Given the description of an element on the screen output the (x, y) to click on. 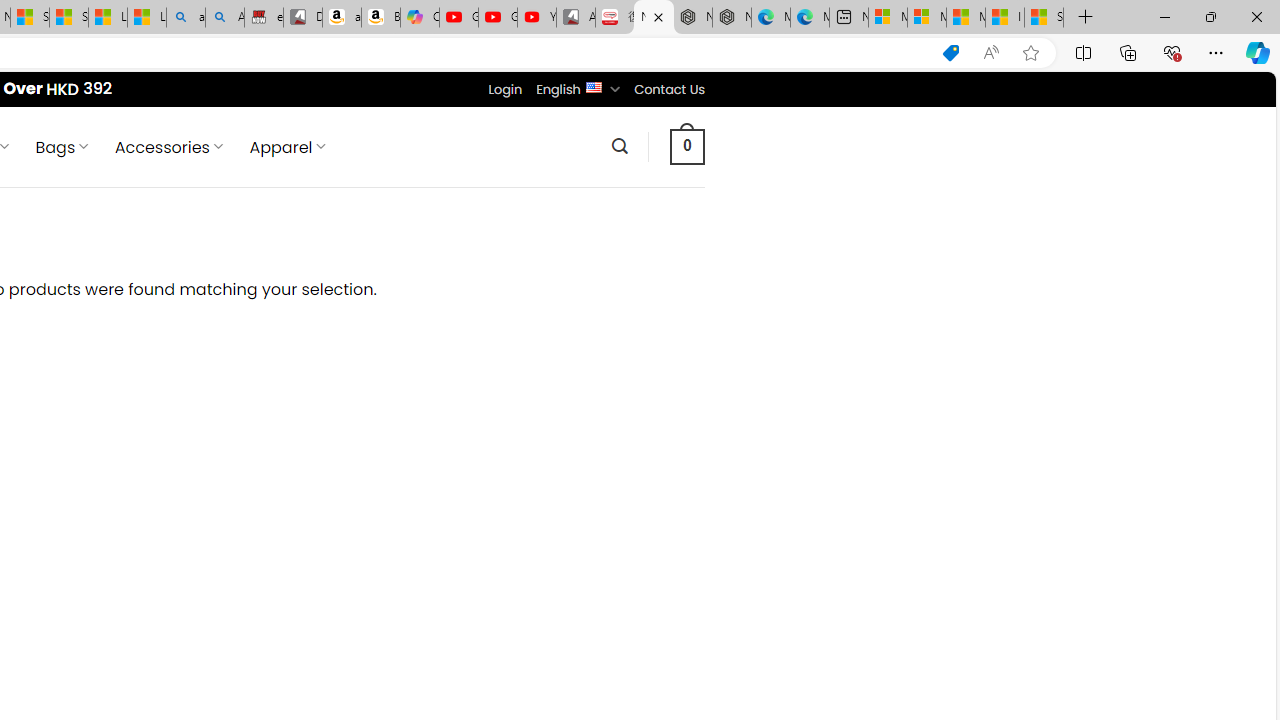
Nordace - Nordace has arrived Hong Kong (732, 17)
 0  (687, 146)
